Given the description of an element on the screen output the (x, y) to click on. 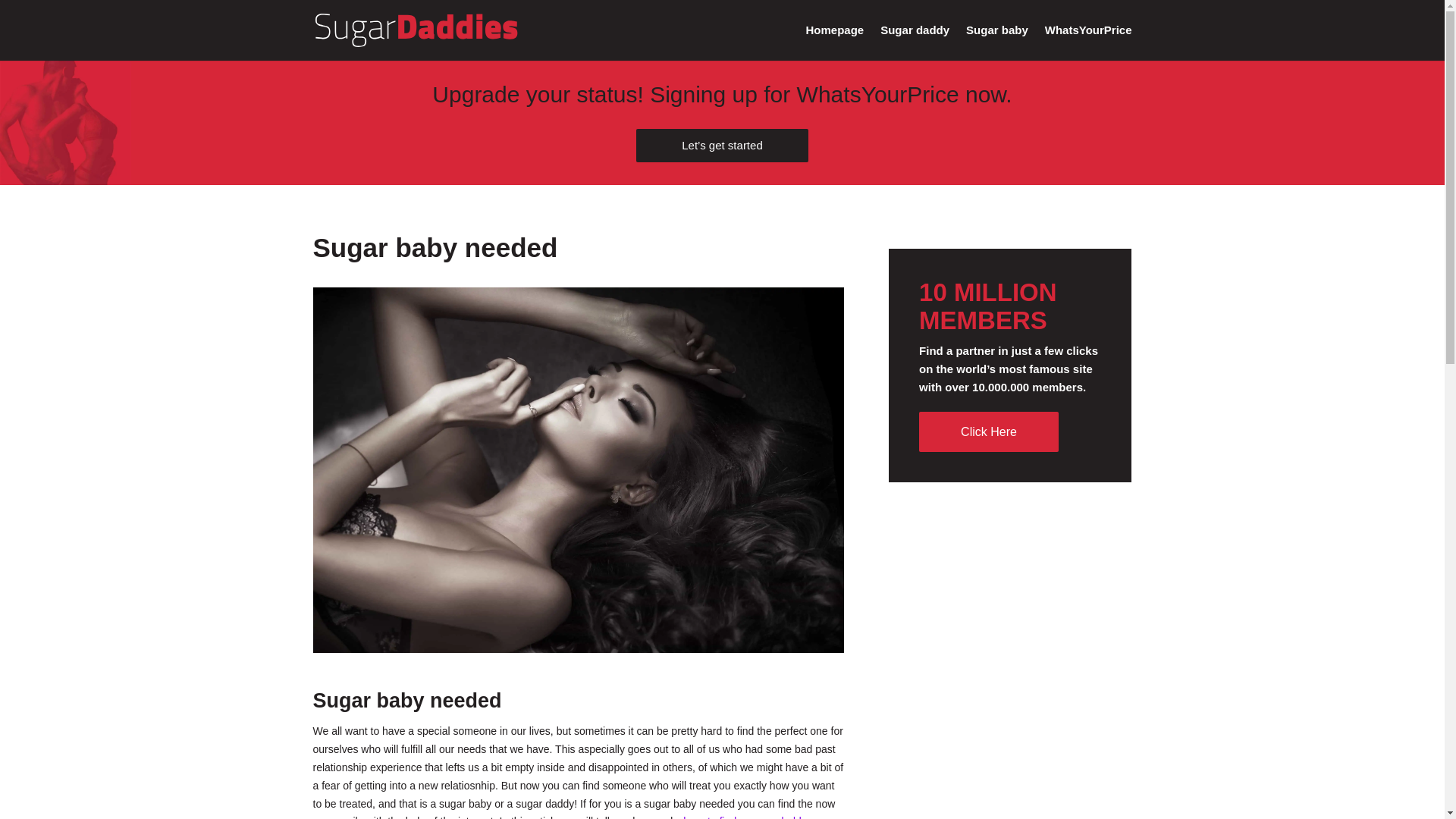
where to find a sugar daddy (740, 816)
Sugar daddy (914, 42)
WhatsYourPrice (1088, 42)
Sugar baby (996, 42)
Homepage (835, 42)
Click Here (988, 431)
